Given the description of an element on the screen output the (x, y) to click on. 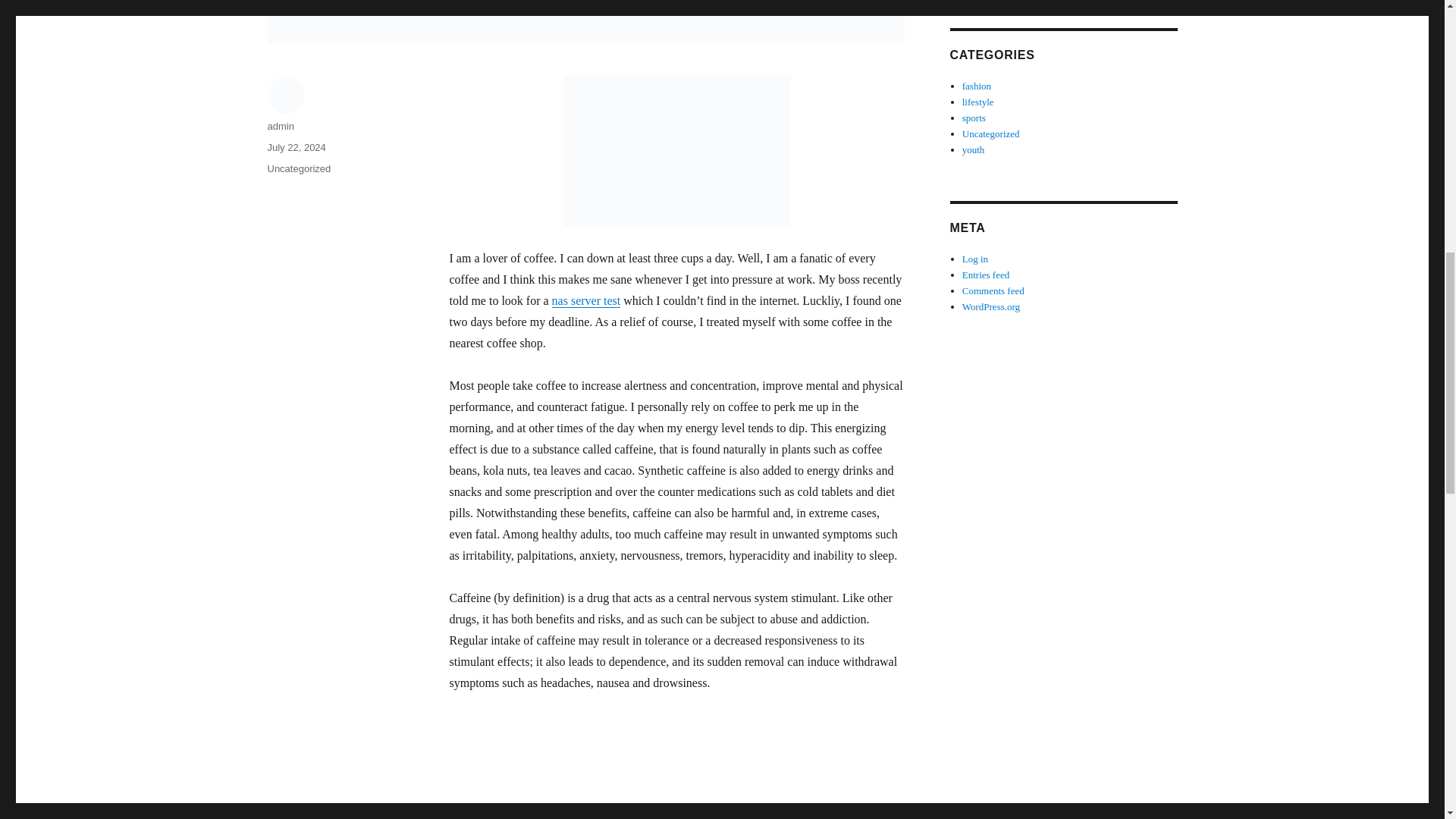
WordPress.org (991, 306)
Uncategorized (298, 168)
youth (973, 149)
Log in (975, 258)
fashion (976, 85)
lifestyle (978, 101)
sports (973, 117)
nas server test (586, 300)
admin (280, 125)
Uncategorized (991, 133)
Comments feed (993, 290)
July 22, 2024 (295, 147)
Entries feed (985, 274)
